Given the description of an element on the screen output the (x, y) to click on. 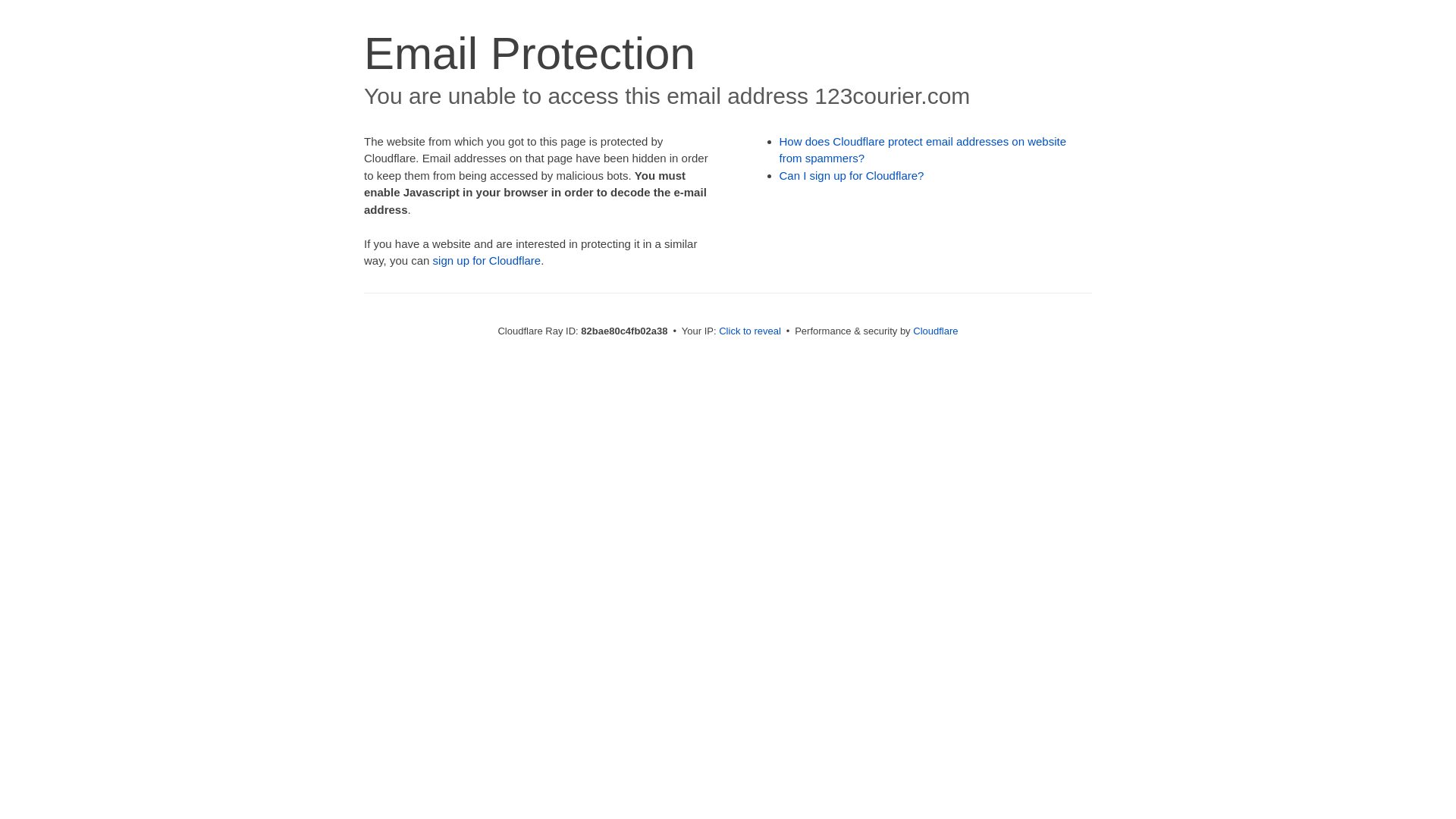
Cloudflare Element type: text (935, 330)
Click to reveal Element type: text (749, 330)
Can I sign up for Cloudflare? Element type: text (851, 175)
sign up for Cloudflare Element type: text (487, 260)
